Given the description of an element on the screen output the (x, y) to click on. 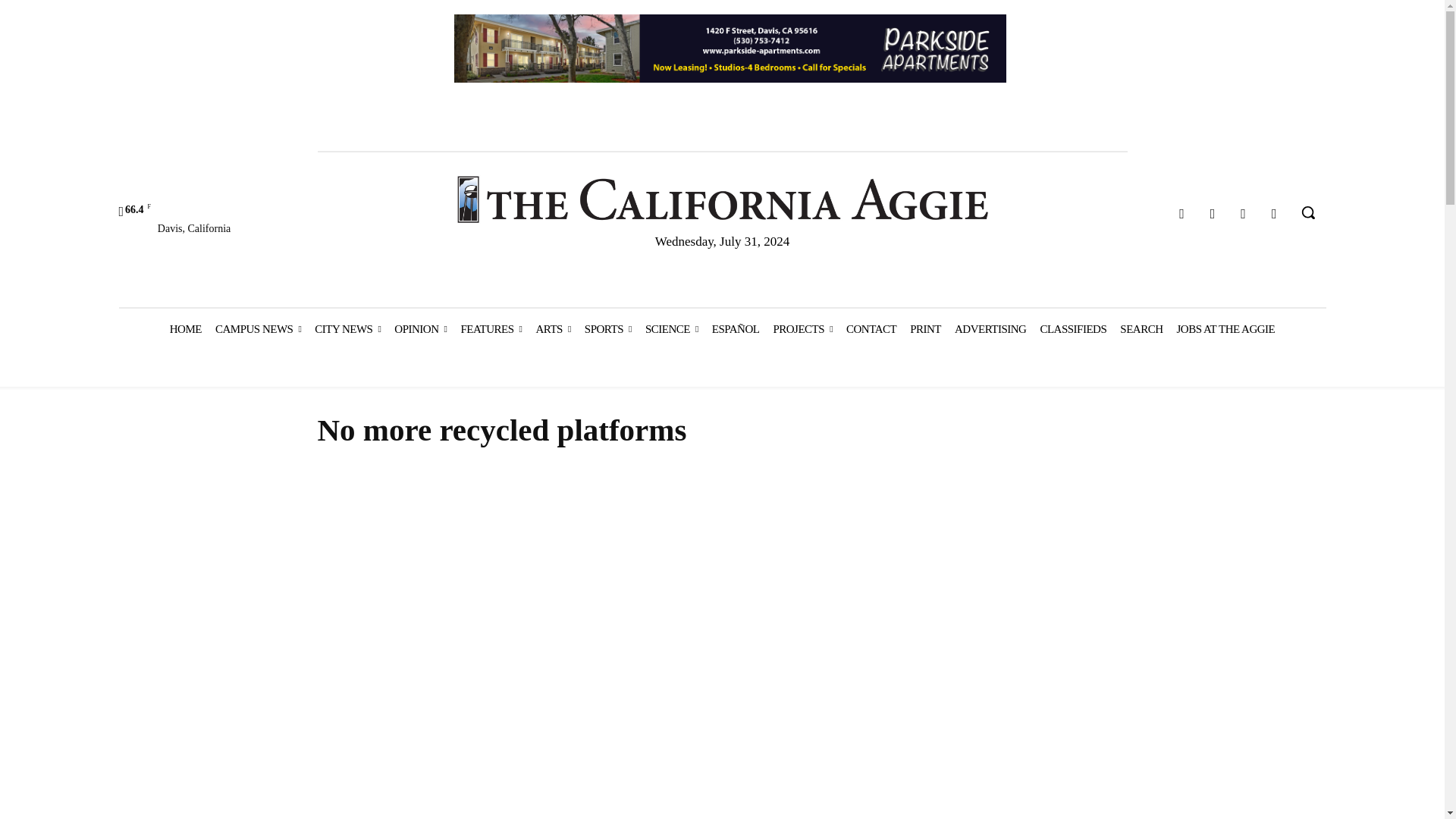
Youtube (1273, 214)
HOME (185, 329)
Instagram (1212, 214)
CAMPUS NEWS (257, 329)
Facebook (1181, 214)
Twitter (1243, 214)
